Given the description of an element on the screen output the (x, y) to click on. 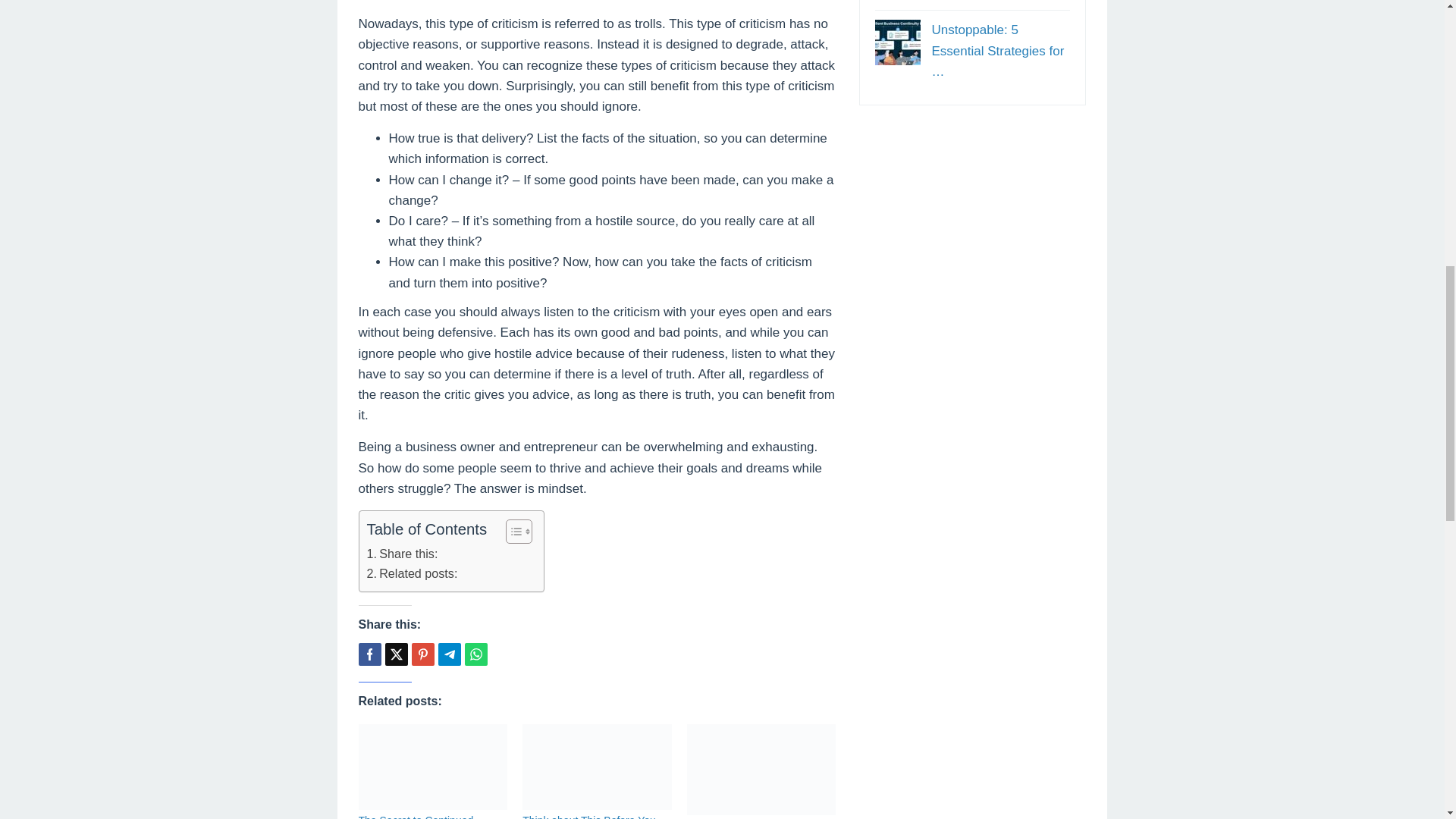
Related posts: (412, 573)
Related posts: (412, 573)
Tweet this (396, 653)
Share this: (402, 554)
Share this: (402, 554)
Permalink to: Think about This Before You Start a Business (596, 766)
Think about This Before You Start a Business (589, 816)
Share this (369, 653)
Pin this (421, 653)
Whatsapp (475, 653)
